Given the description of an element on the screen output the (x, y) to click on. 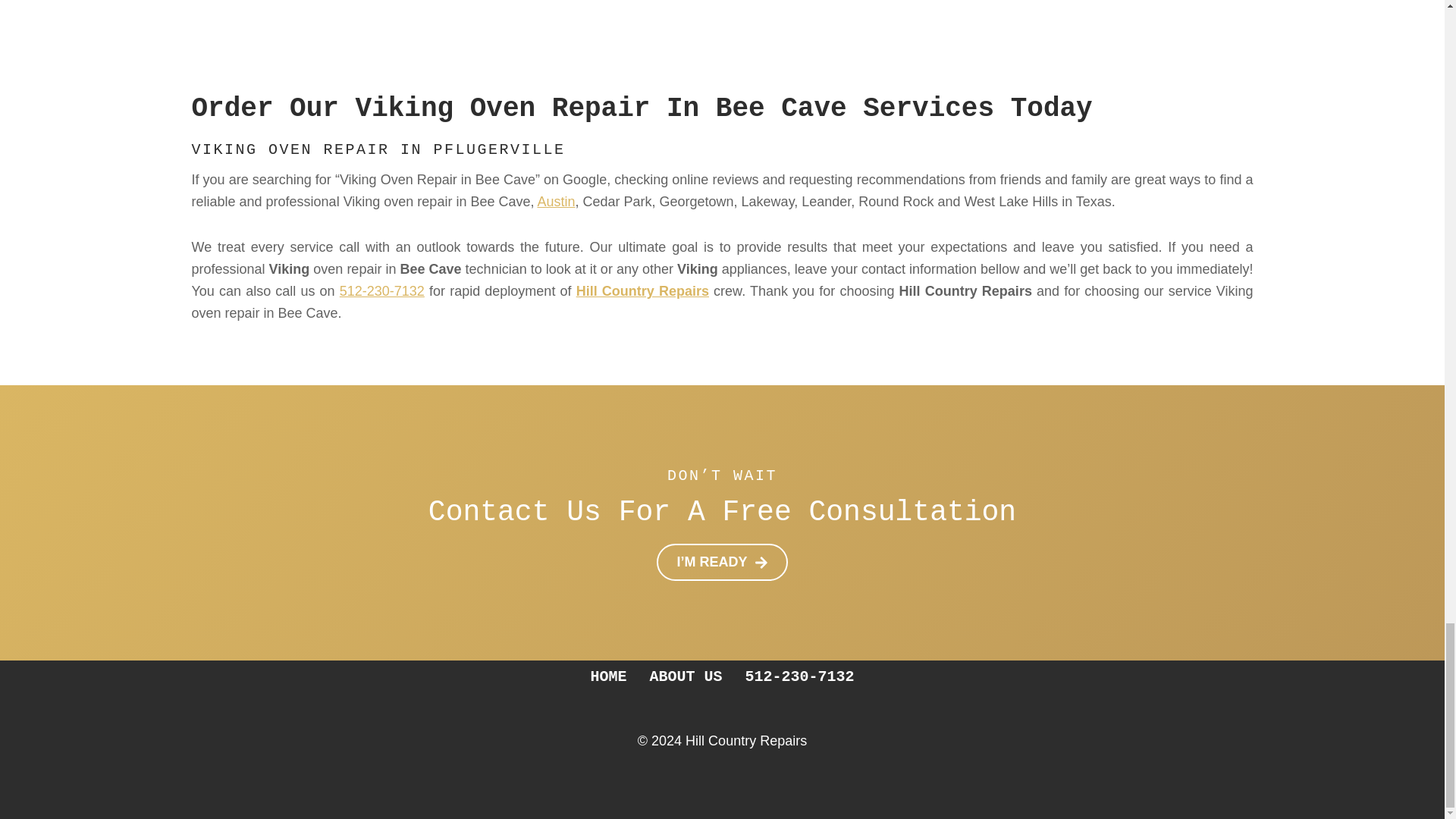
HOME (607, 676)
Austin (556, 201)
ABOUT US (685, 676)
512-230-7132 (382, 290)
Hill Country Repairs (642, 290)
512-230-7132 (799, 676)
